Given the description of an element on the screen output the (x, y) to click on. 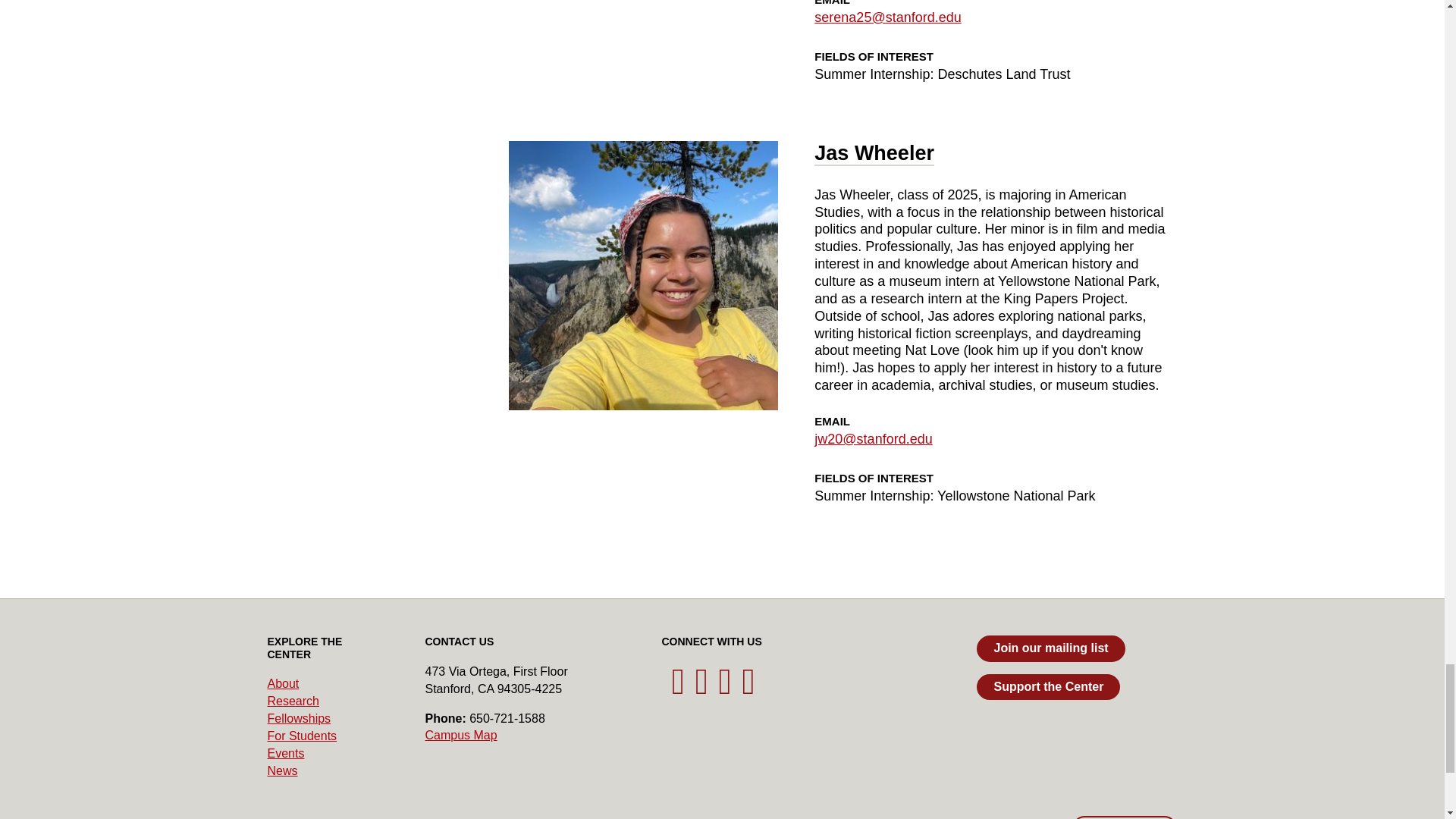
West Flickr (748, 689)
West YouTube Channel (725, 689)
West Twitter (678, 689)
West Instagram (702, 689)
